Given the description of an element on the screen output the (x, y) to click on. 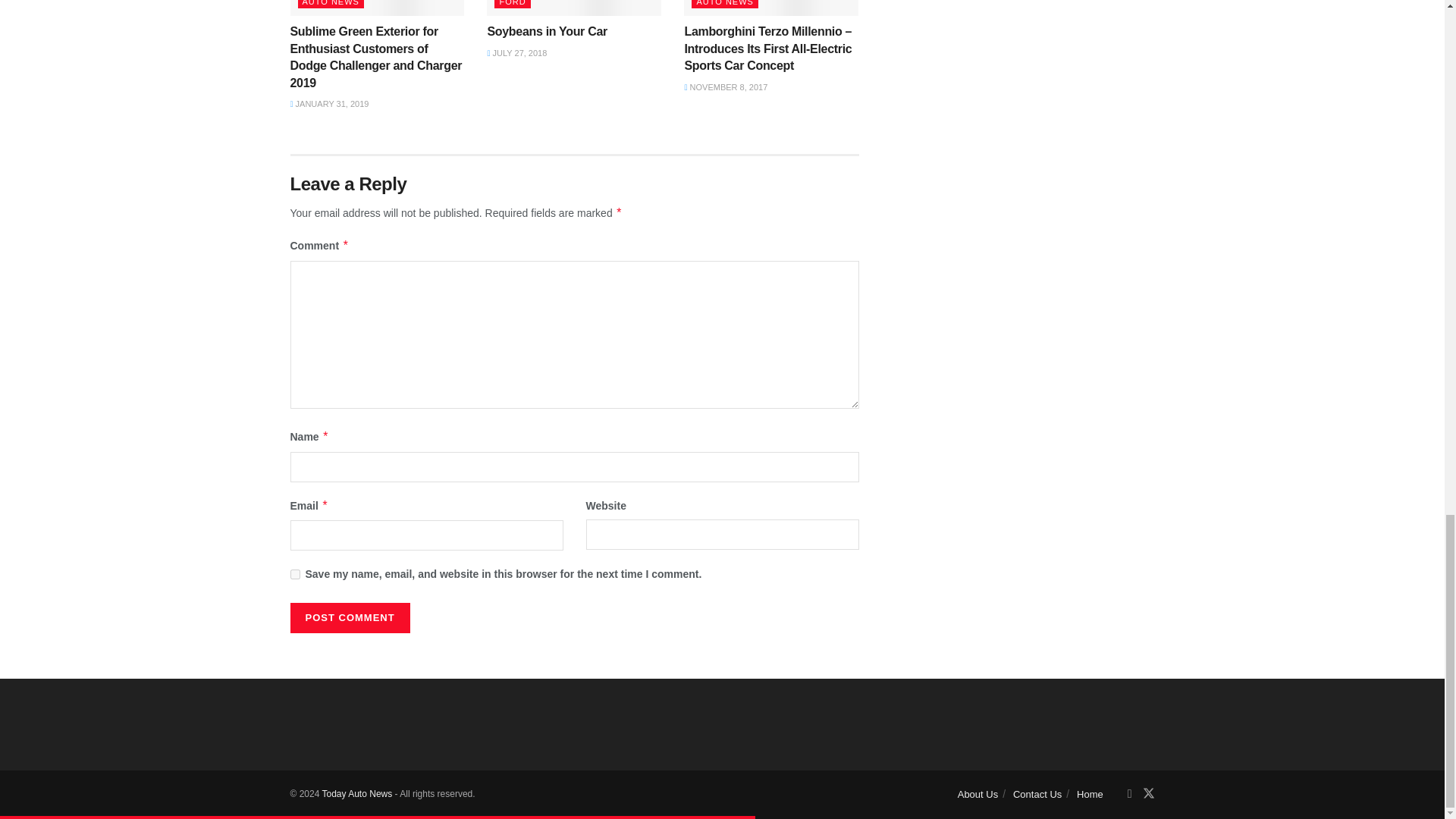
Post Comment (349, 617)
yes (294, 574)
Today Auto News (356, 793)
